Given the description of an element on the screen output the (x, y) to click on. 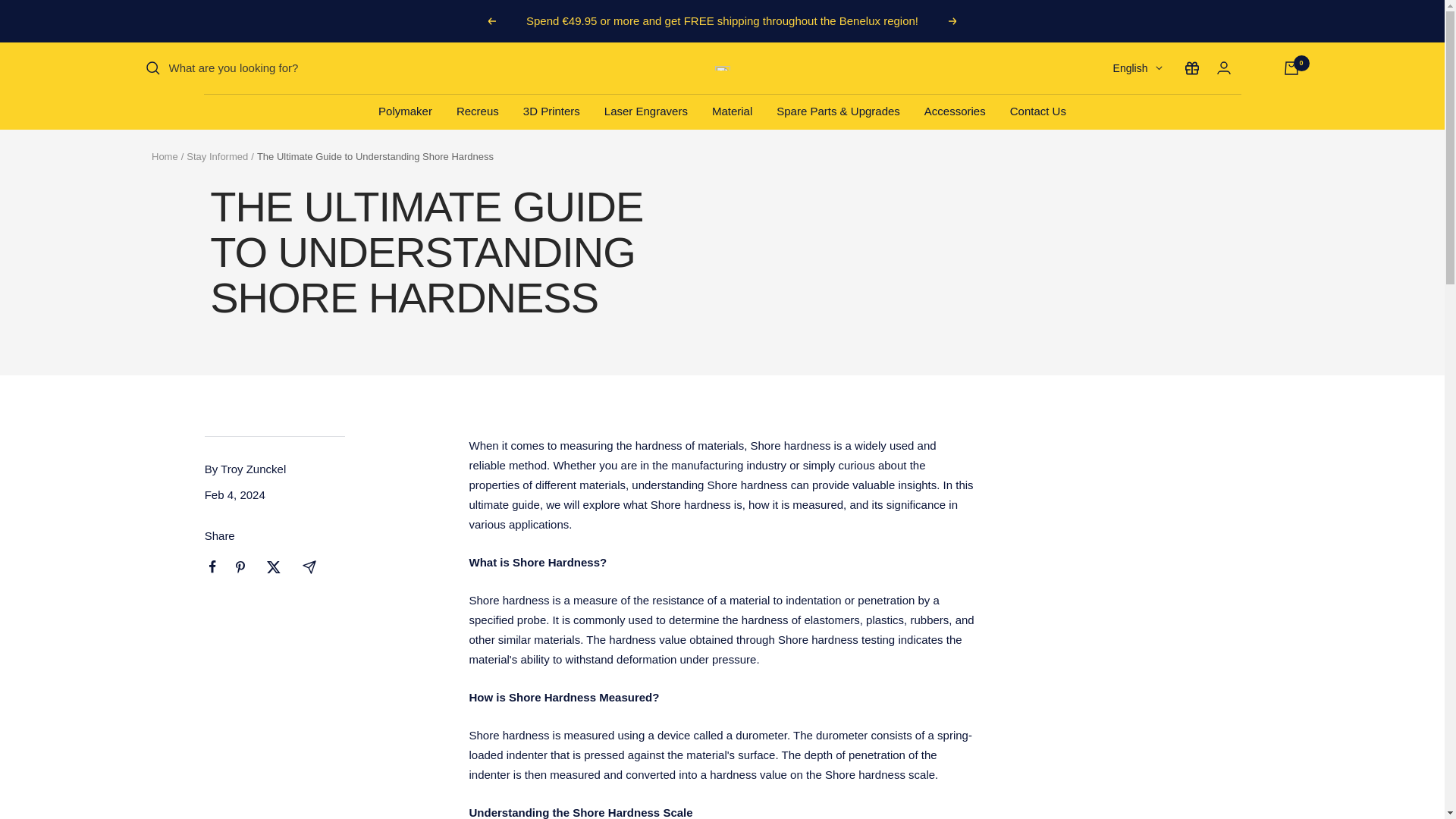
en (1111, 145)
Next (953, 21)
Laser Engravers (645, 111)
EC3D (721, 68)
English (1137, 67)
Previous (491, 21)
0 (1290, 68)
Recreus (478, 111)
Accessories (954, 111)
Material (731, 111)
Contact Us (1037, 111)
nl (1111, 120)
3D Printers (550, 111)
Polymaker (405, 111)
